Given the description of an element on the screen output the (x, y) to click on. 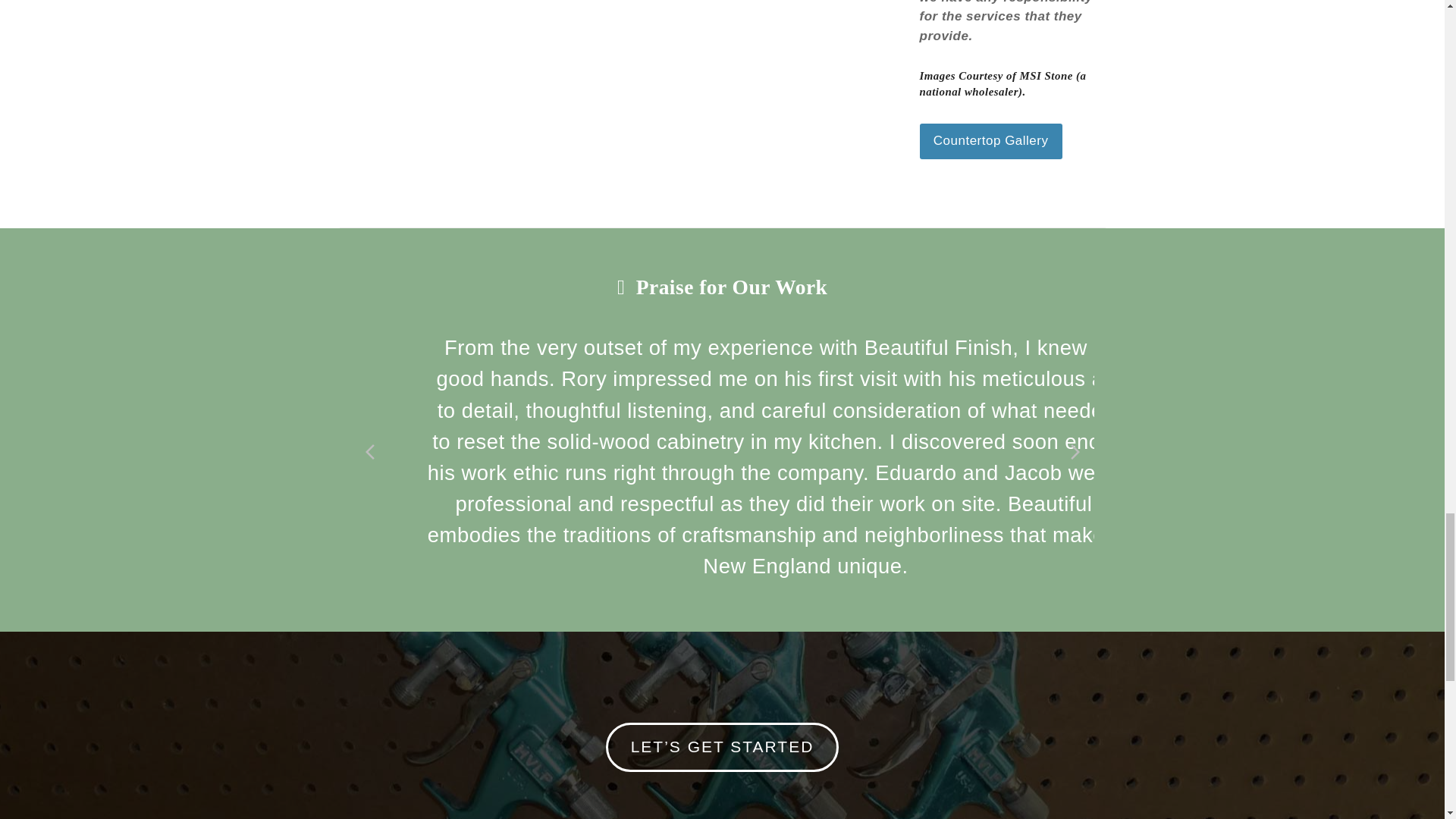
Let's Get Started (722, 747)
